Given the description of an element on the screen output the (x, y) to click on. 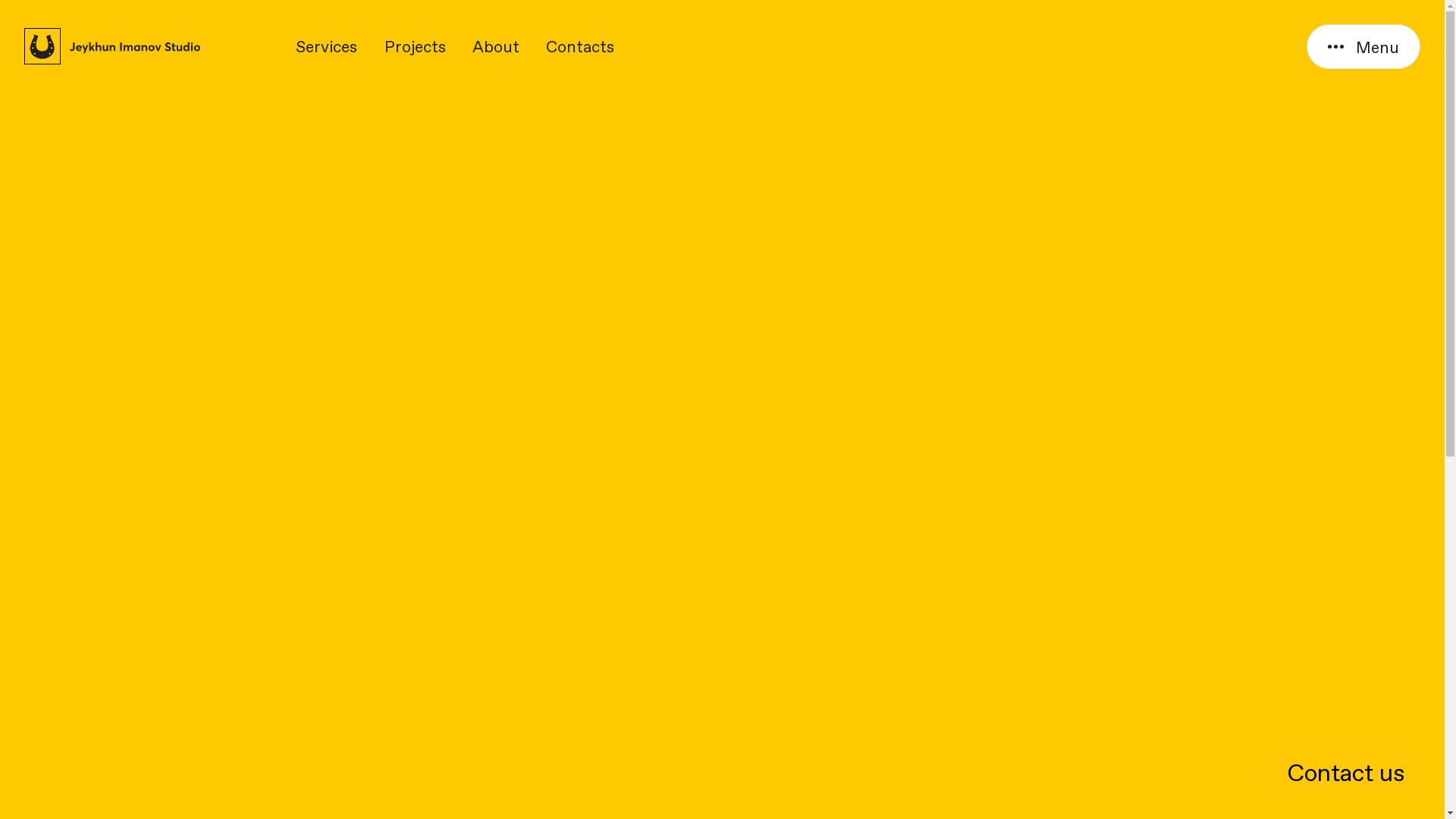
Menu Element type: text (1363, 46)
Contact us Element type: text (1345, 771)
About Element type: text (495, 45)
Contacts Element type: text (580, 45)
Services Element type: text (326, 45)
Projects Element type: text (414, 45)
